Given the description of an element on the screen output the (x, y) to click on. 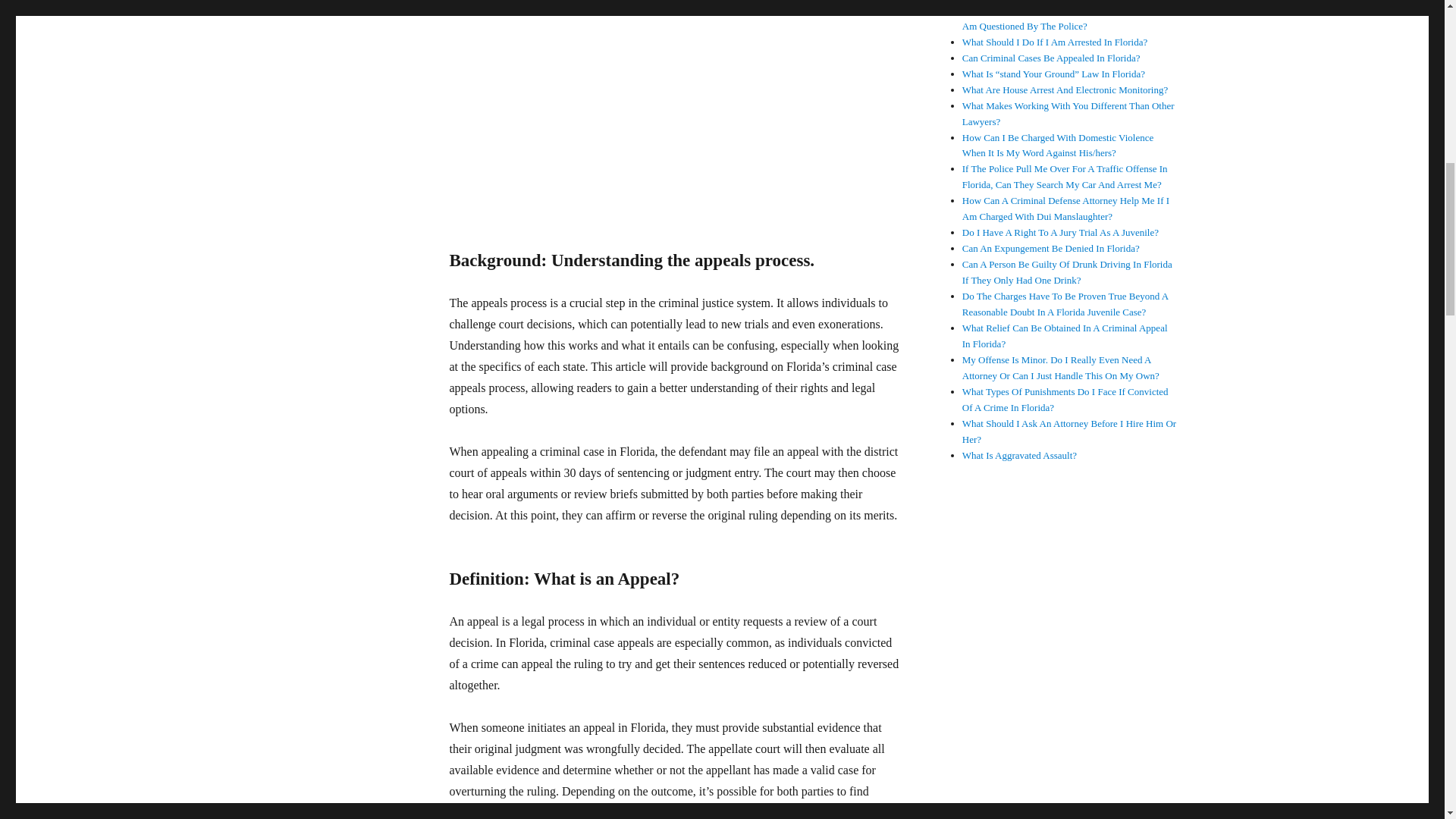
What Should I Do If I Am Arrested In Florida? (1054, 41)
Can criminal cases be appealed in Florida? (684, 104)
